Given the description of an element on the screen output the (x, y) to click on. 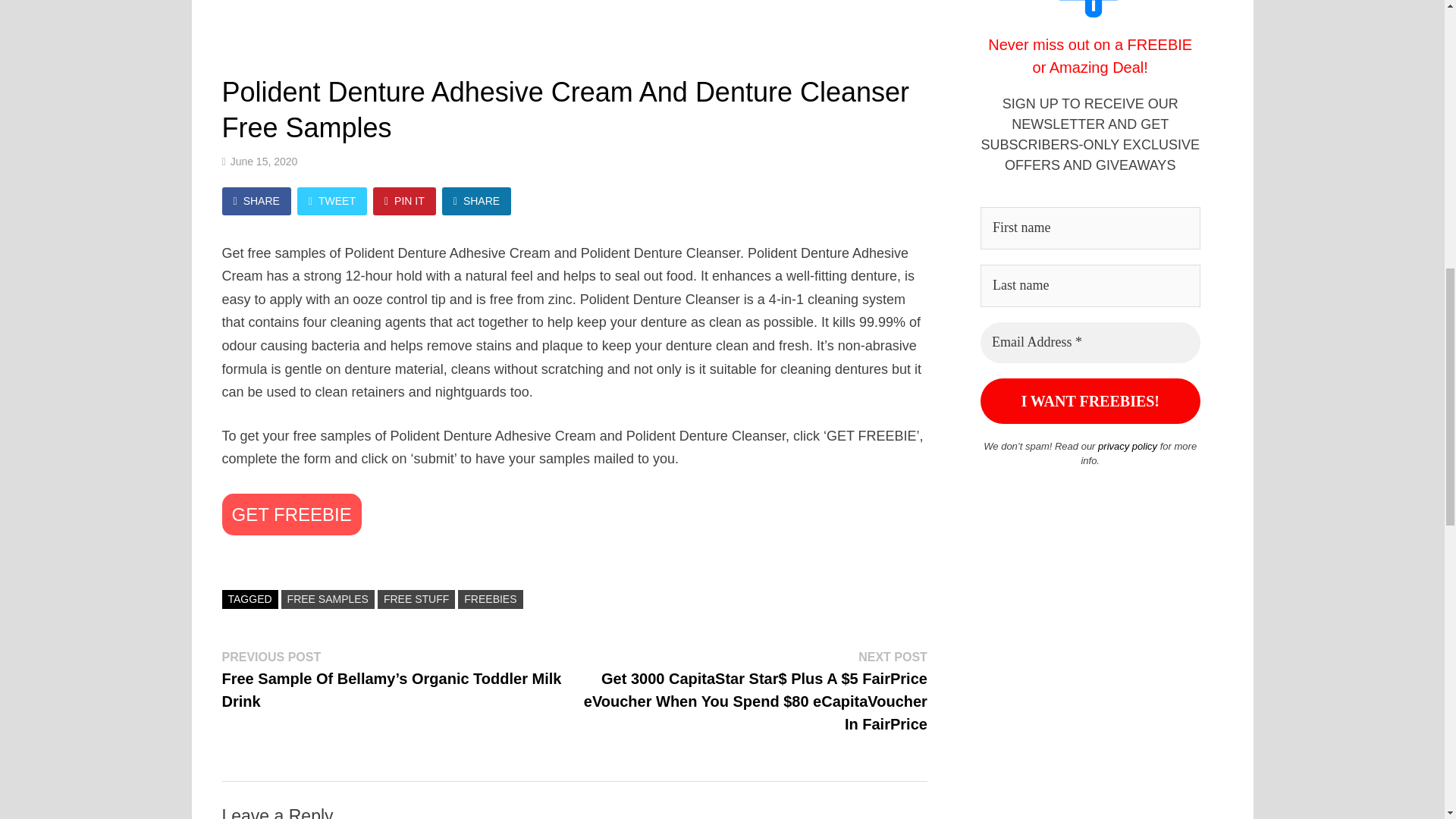
First name (1089, 228)
Email Address (1089, 342)
I Want Freebies! (1089, 401)
Last name (1089, 285)
